Given the description of an element on the screen output the (x, y) to click on. 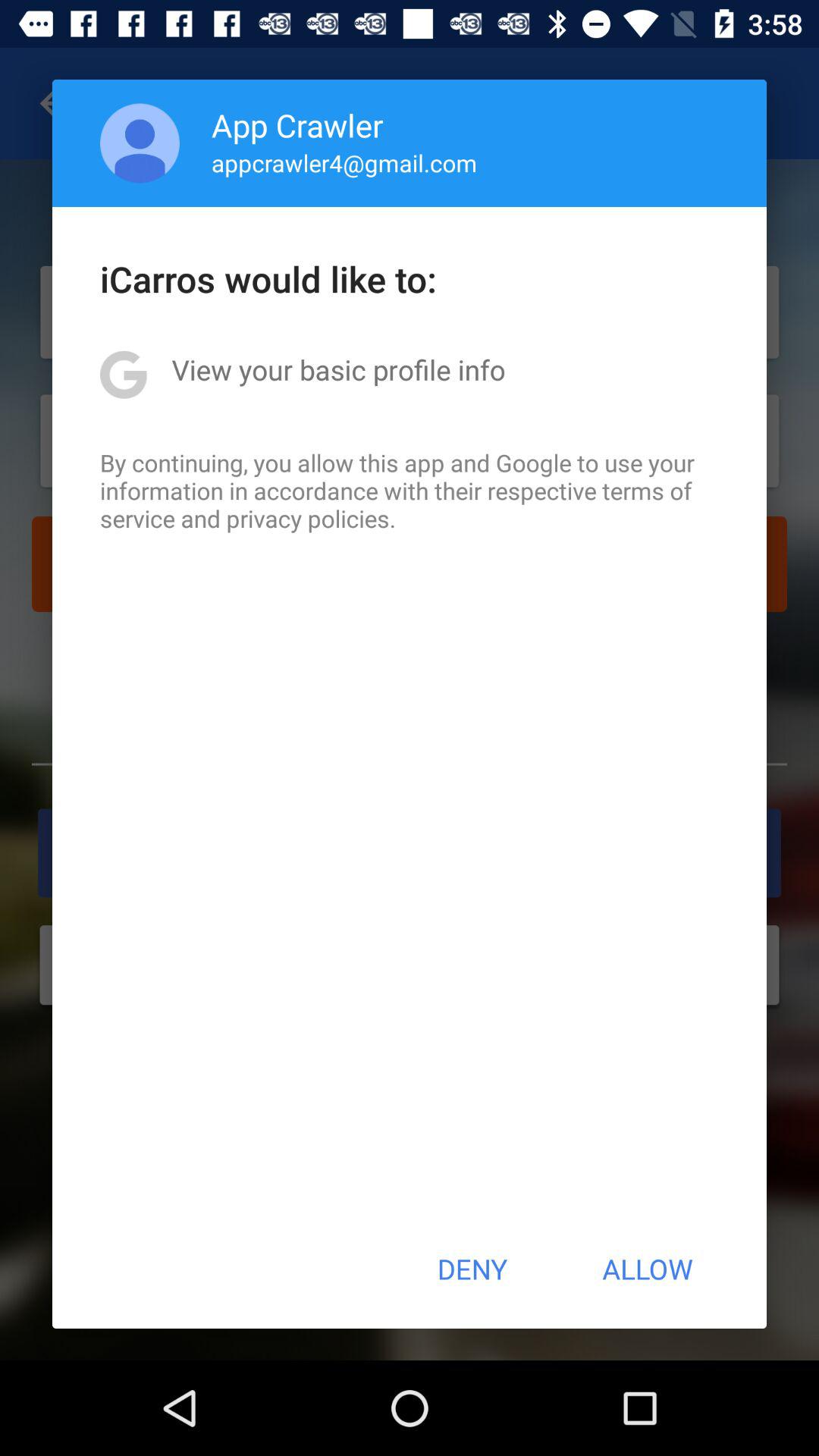
scroll until the view your basic icon (338, 369)
